Given the description of an element on the screen output the (x, y) to click on. 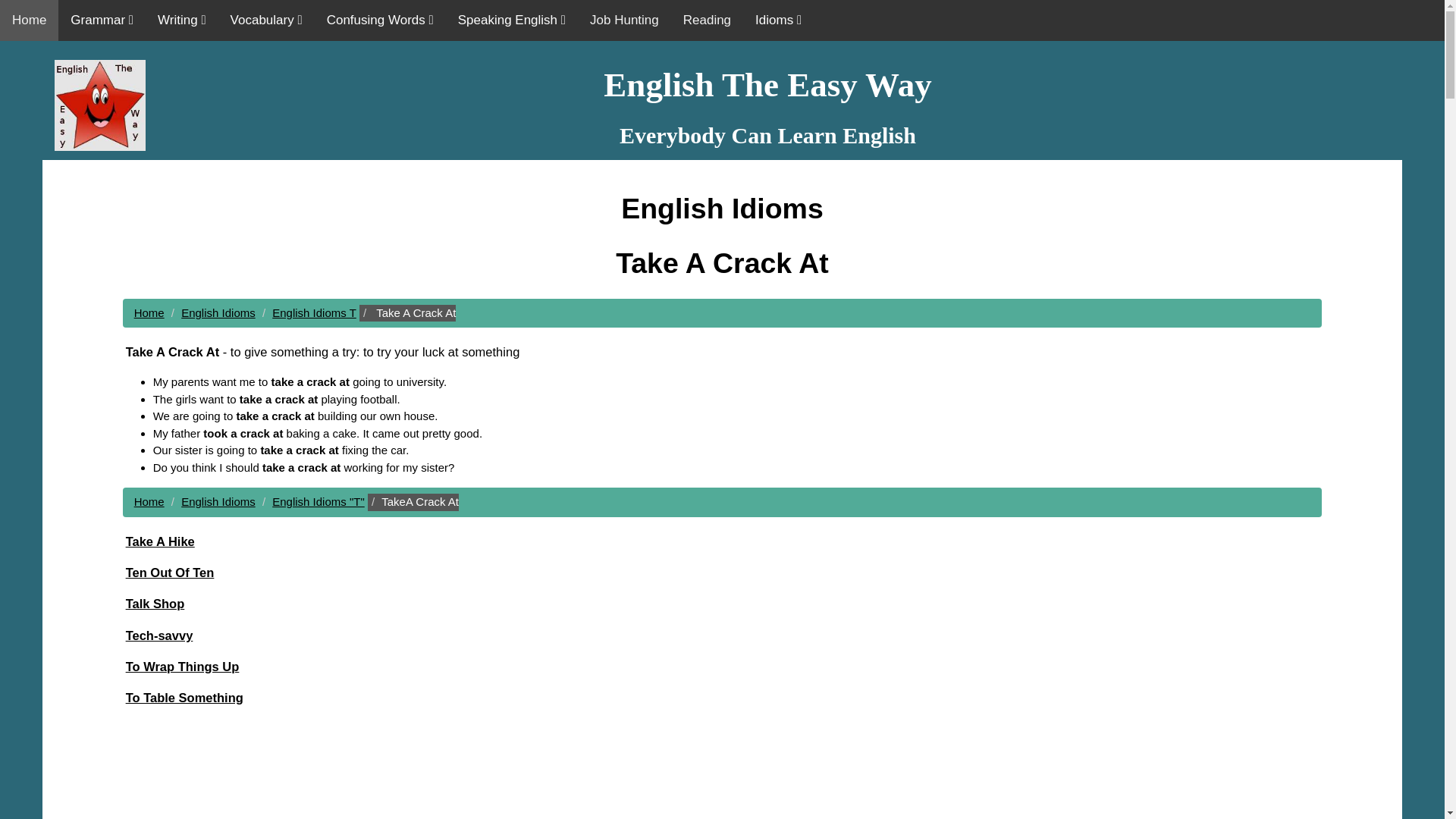
Grammar (101, 20)
Home (29, 20)
Writing (181, 20)
Confusing Words (379, 20)
Vocabulary (266, 20)
Advertisement (721, 769)
